Given the description of an element on the screen output the (x, y) to click on. 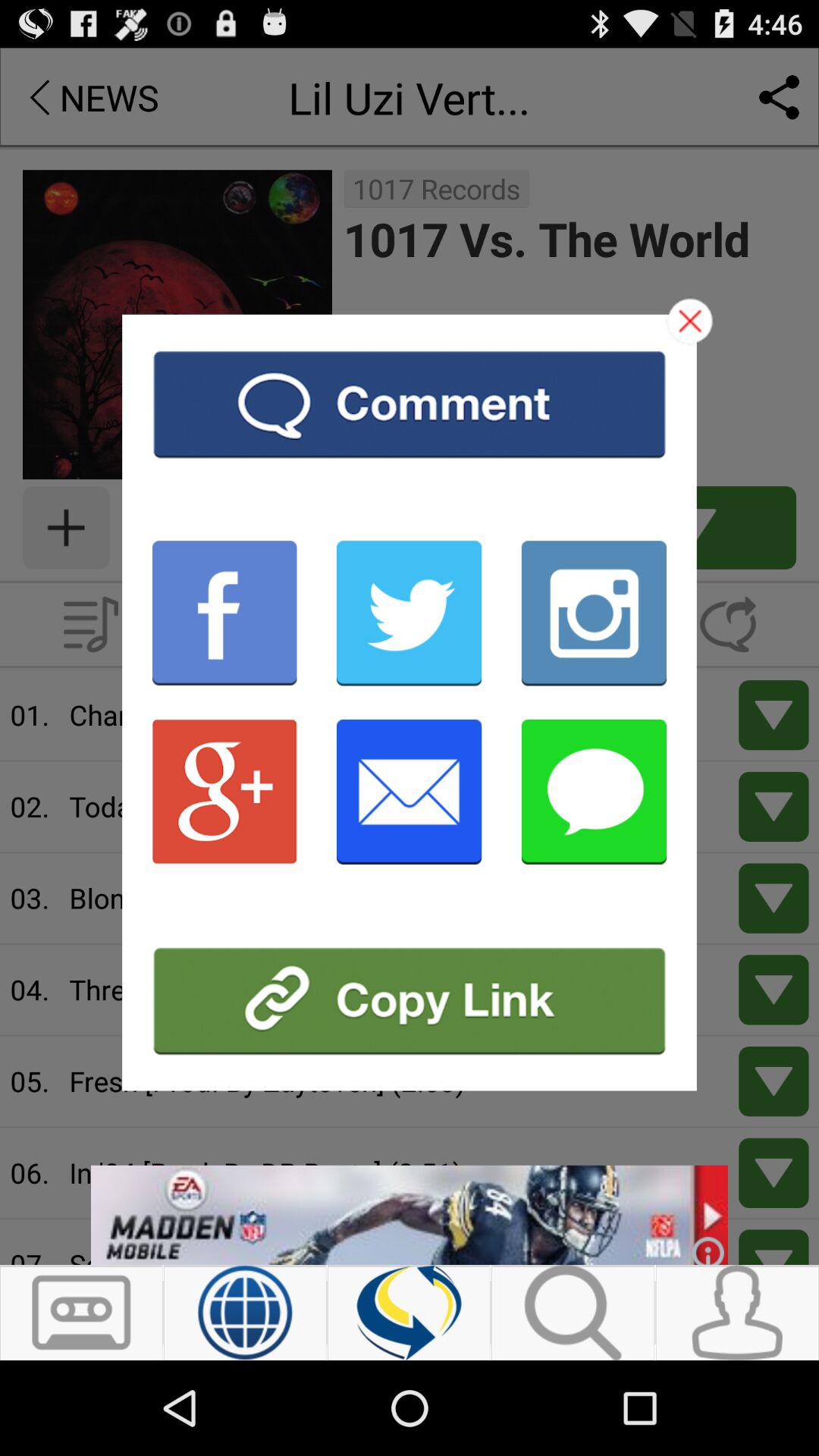
copy link (409, 1000)
